Given the description of an element on the screen output the (x, y) to click on. 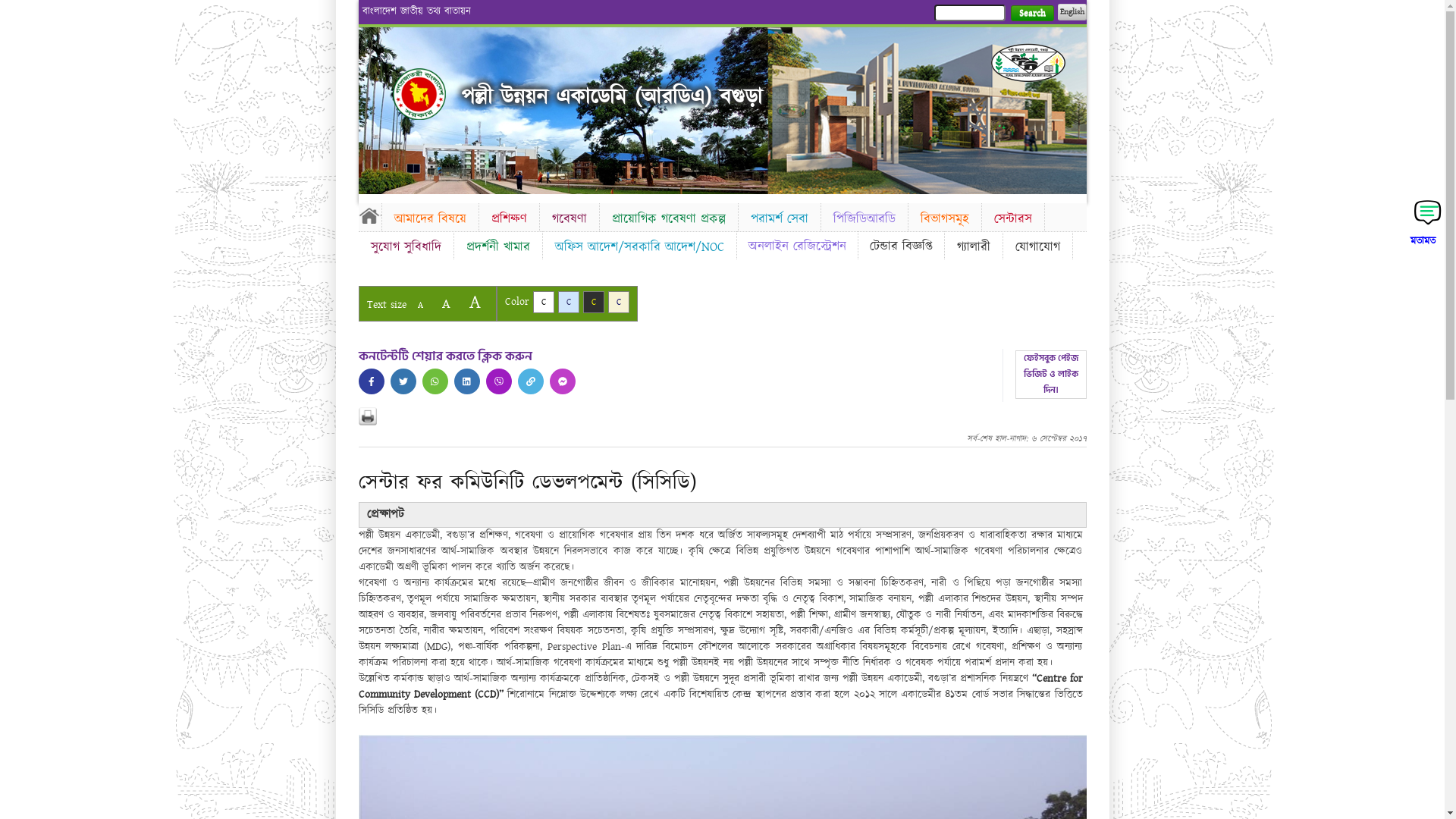
C Element type: text (542, 302)
Home Element type: hover (368, 215)
Home Element type: hover (418, 93)
C Element type: text (592, 302)
Search Element type: text (1031, 13)
C Element type: text (618, 302)
English Element type: text (1071, 11)
A Element type: text (419, 304)
C Element type: text (568, 302)
A Element type: text (445, 303)
A Element type: text (474, 302)
